Given the description of an element on the screen output the (x, y) to click on. 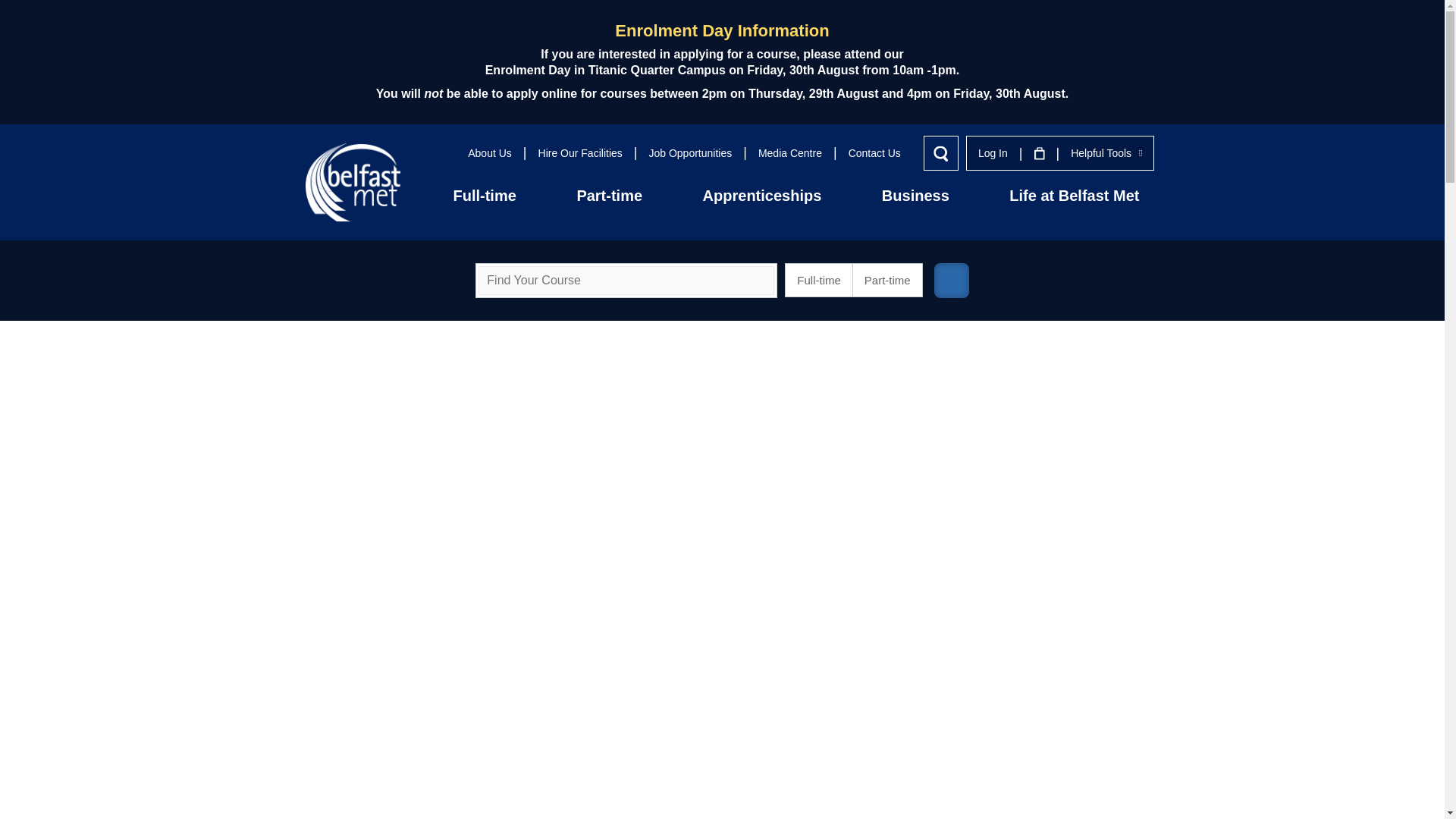
Log In (992, 153)
About Us (489, 152)
Life at Belfast Met (1074, 195)
Hire Our Facilities (580, 152)
Media Centre (790, 152)
Business (914, 195)
Apprenticeships (762, 195)
Part-time (609, 195)
Contact Us (874, 152)
Job Opportunities (689, 152)
